Given the description of an element on the screen output the (x, y) to click on. 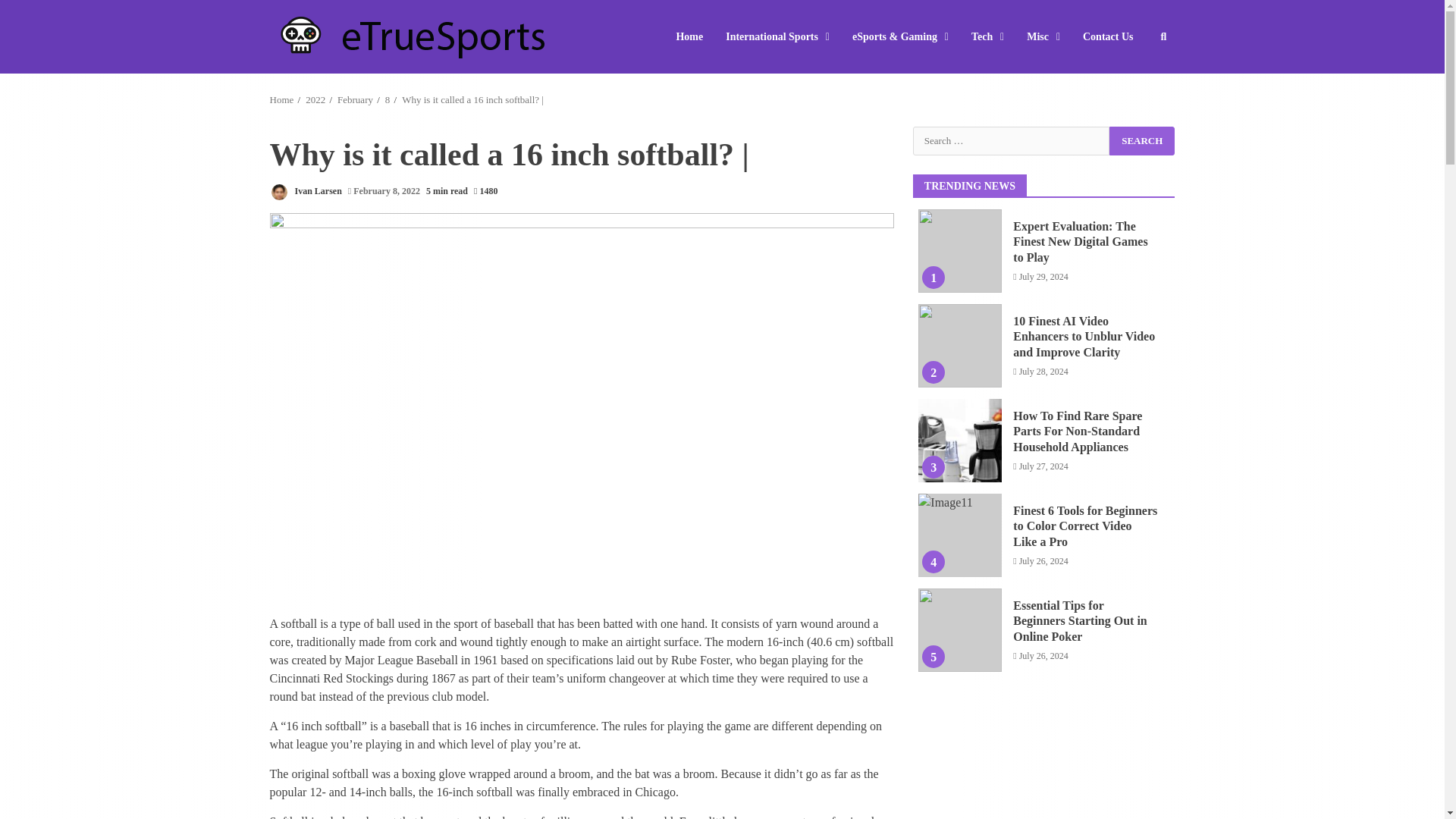
Tech (986, 36)
Search (1135, 82)
Search (1141, 140)
Misc (1042, 36)
Search (1141, 140)
2022 (314, 99)
International Sports (777, 36)
February (354, 99)
Ivan Larsen (305, 191)
Home (694, 36)
1480 (485, 191)
Contact Us (1102, 36)
Home (281, 99)
